Given the description of an element on the screen output the (x, y) to click on. 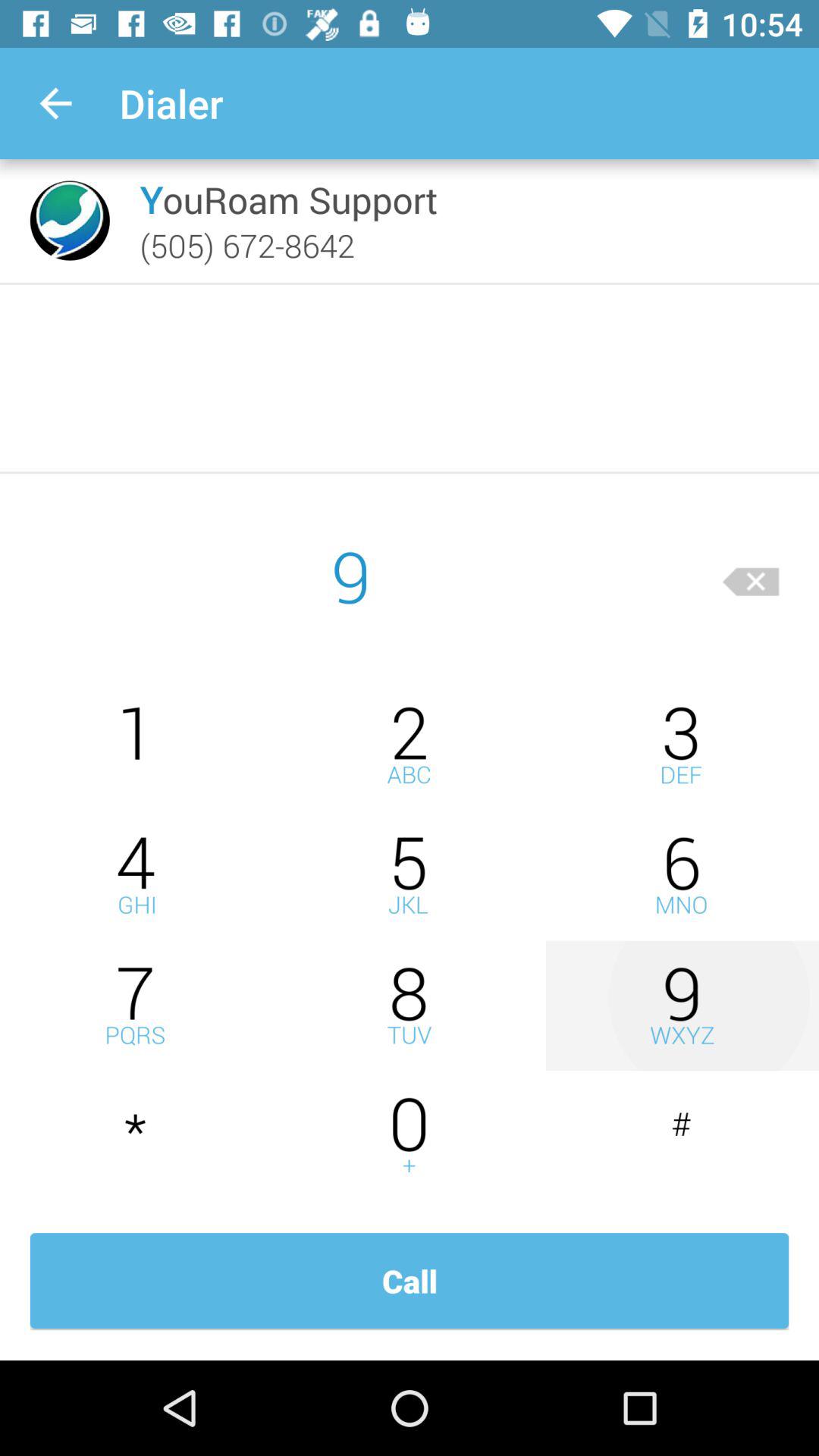
dial star (136, 1135)
